Given the description of an element on the screen output the (x, y) to click on. 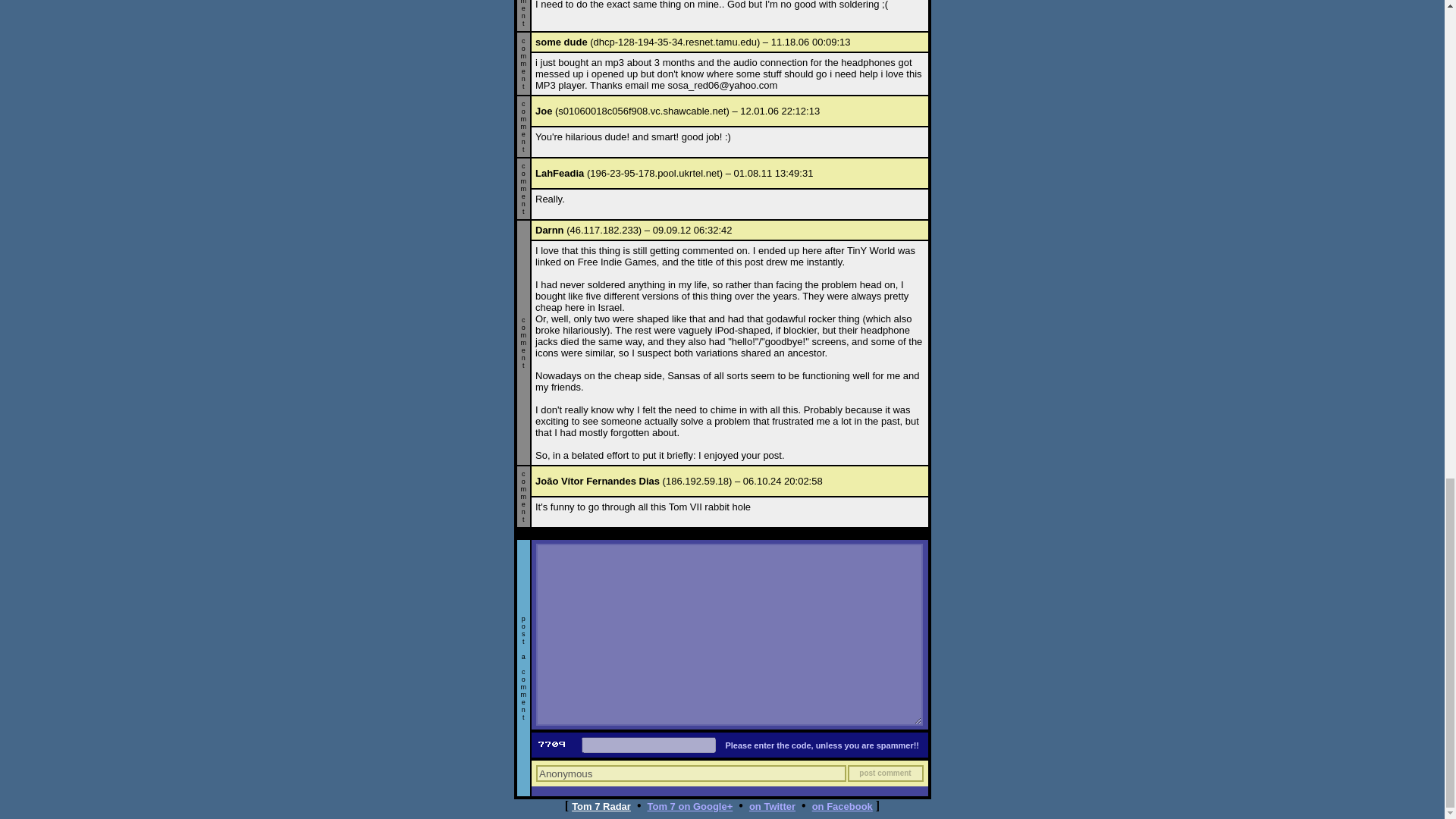
Anonymous (690, 773)
post comment (885, 773)
on Twitter (771, 806)
Tom 7 Radar (601, 806)
on Facebook (842, 806)
post comment (885, 773)
